Given the description of an element on the screen output the (x, y) to click on. 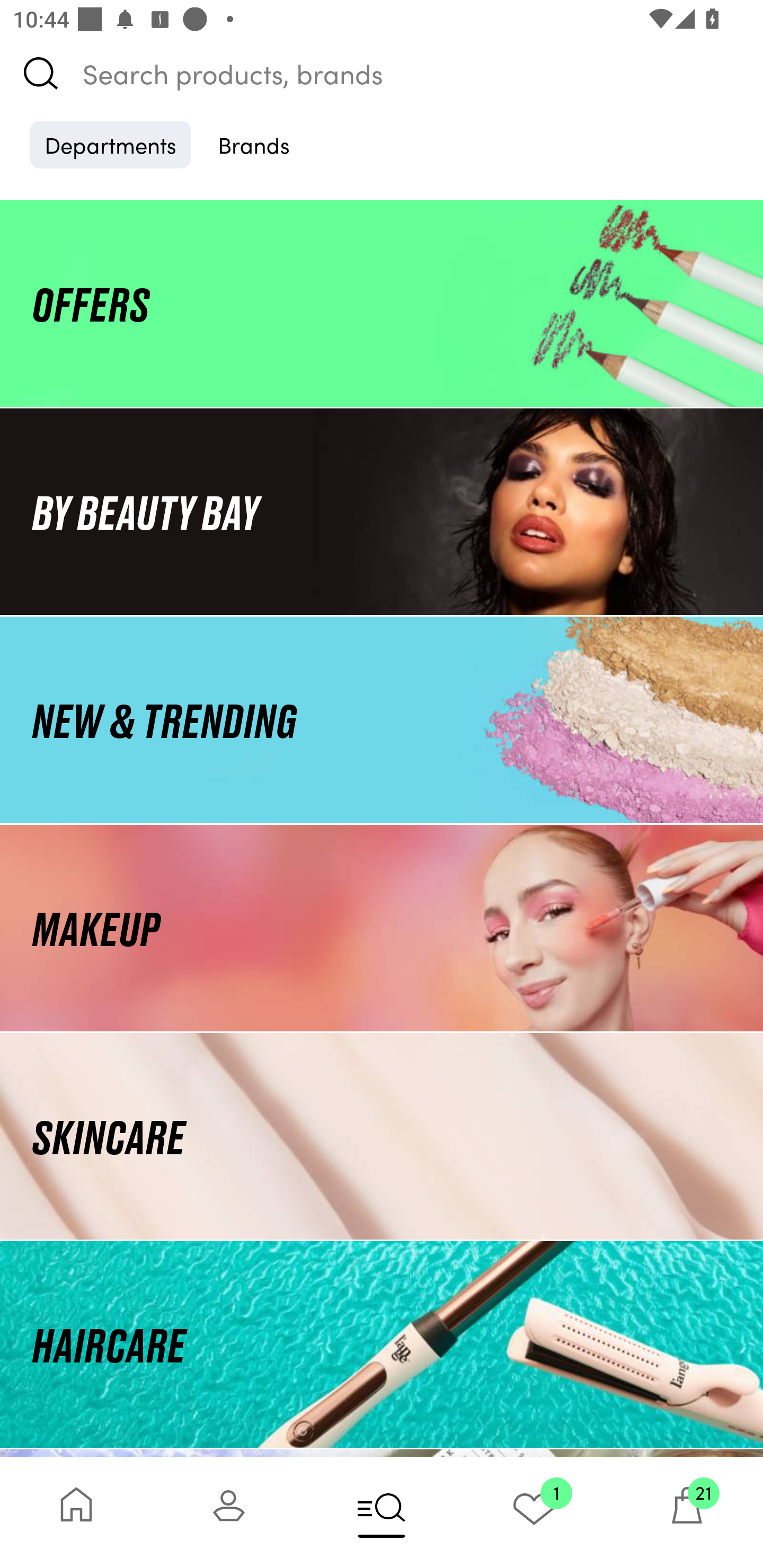
Search products, brands (381, 72)
Departments (110, 143)
Brands (253, 143)
OFFERS (381, 303)
BY BEAUTY BAY (381, 510)
NEW & TRENDING (381, 719)
MAKEUP (381, 927)
SKINCARE (381, 1136)
HAIRCARE (381, 1344)
1 (533, 1512)
21 (686, 1512)
